Given the description of an element on the screen output the (x, y) to click on. 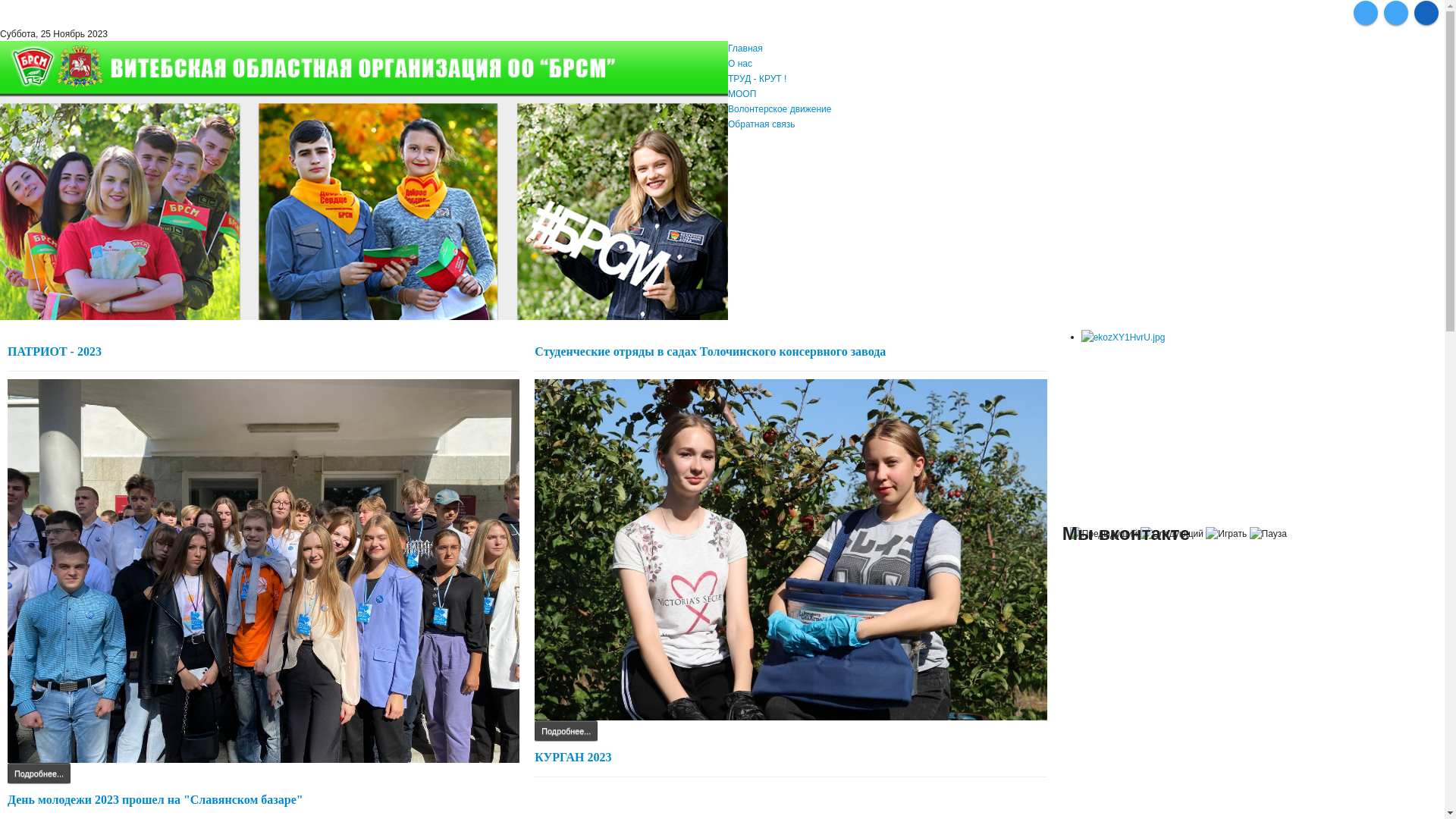
Facebook Element type: hover (1426, 12)
VK Element type: hover (1365, 12)
Twitter Element type: hover (1395, 12)
